Given the description of an element on the screen output the (x, y) to click on. 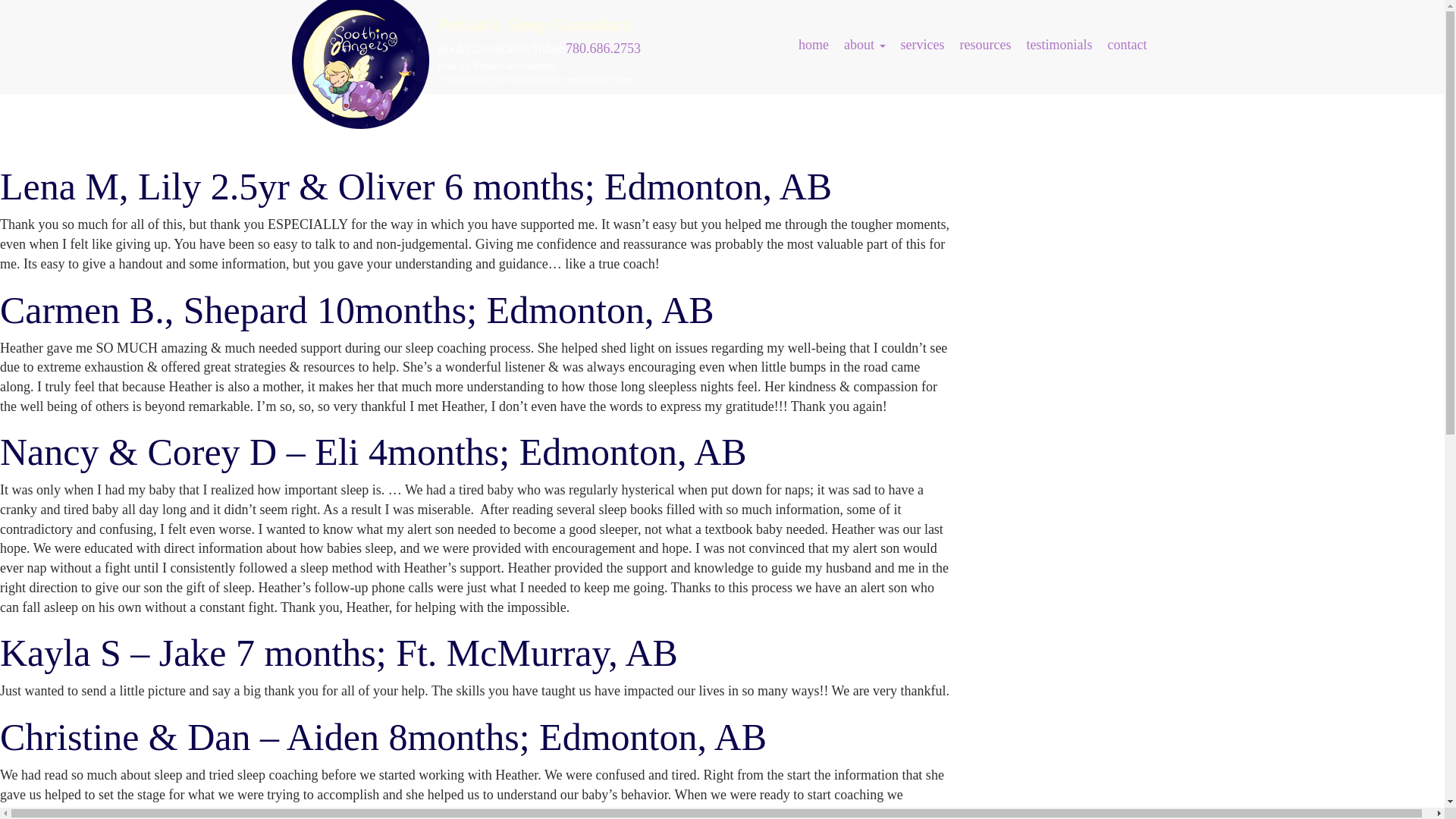
780.686.2753 (603, 48)
Soothing Angels (354, 79)
testimonials (1059, 44)
contact (1127, 44)
home (812, 44)
about (864, 44)
resources (985, 44)
services (922, 44)
